Given the description of an element on the screen output the (x, y) to click on. 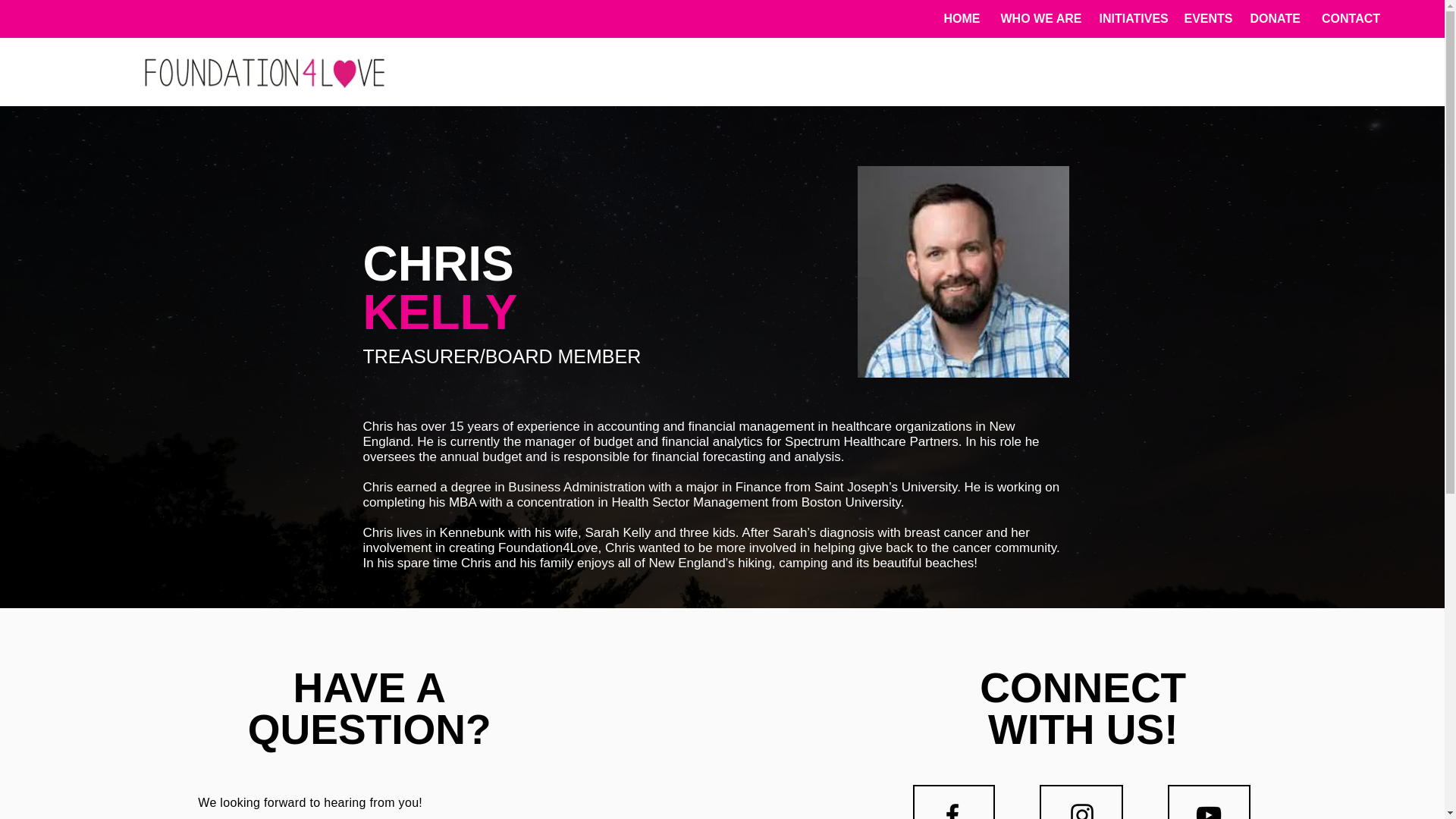
EVENTS (1205, 18)
DONATE (1272, 18)
CONTACT (1349, 18)
HOME (959, 18)
